Given the description of an element on the screen output the (x, y) to click on. 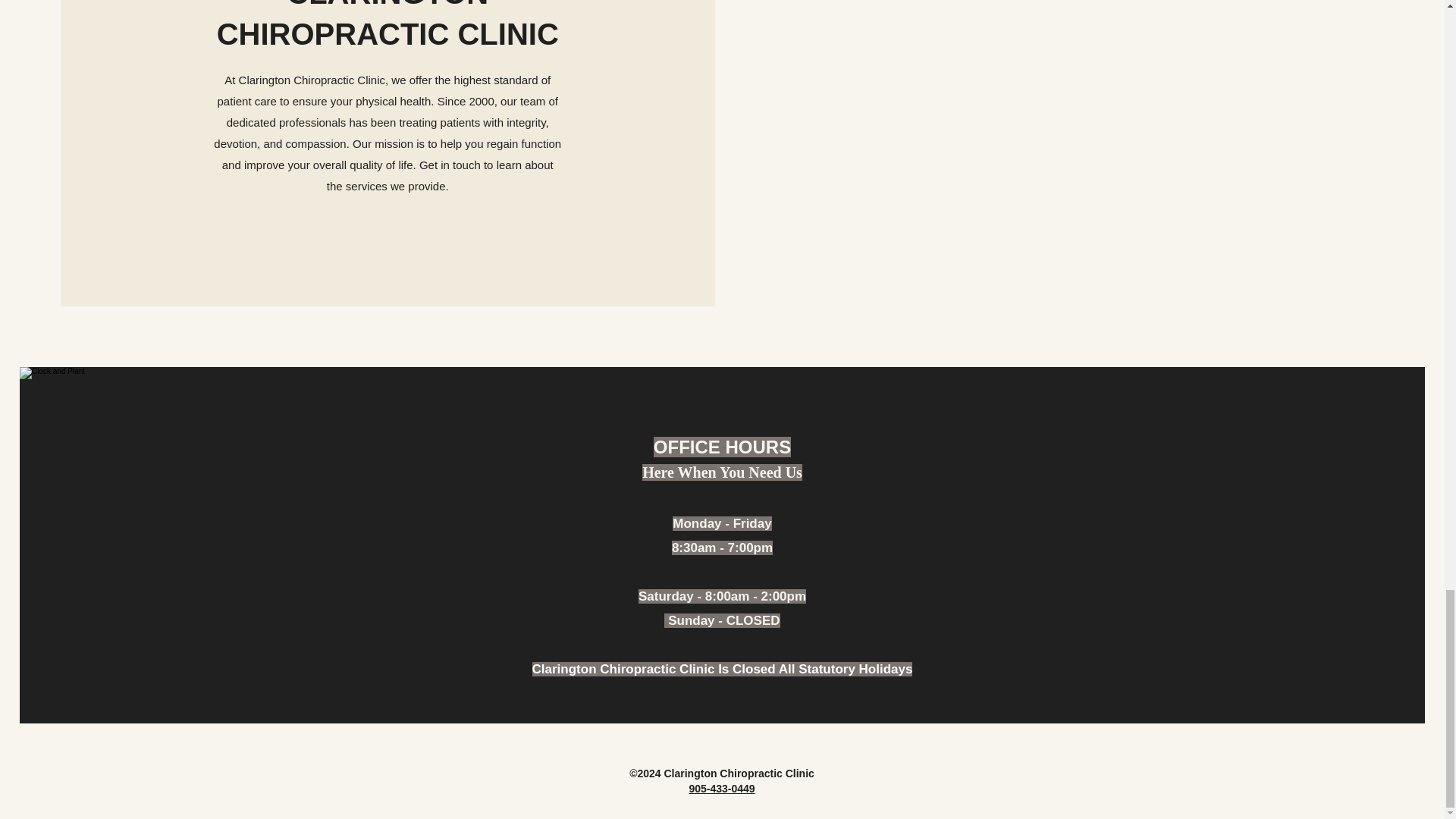
905-433-0449 (721, 788)
